Given the description of an element on the screen output the (x, y) to click on. 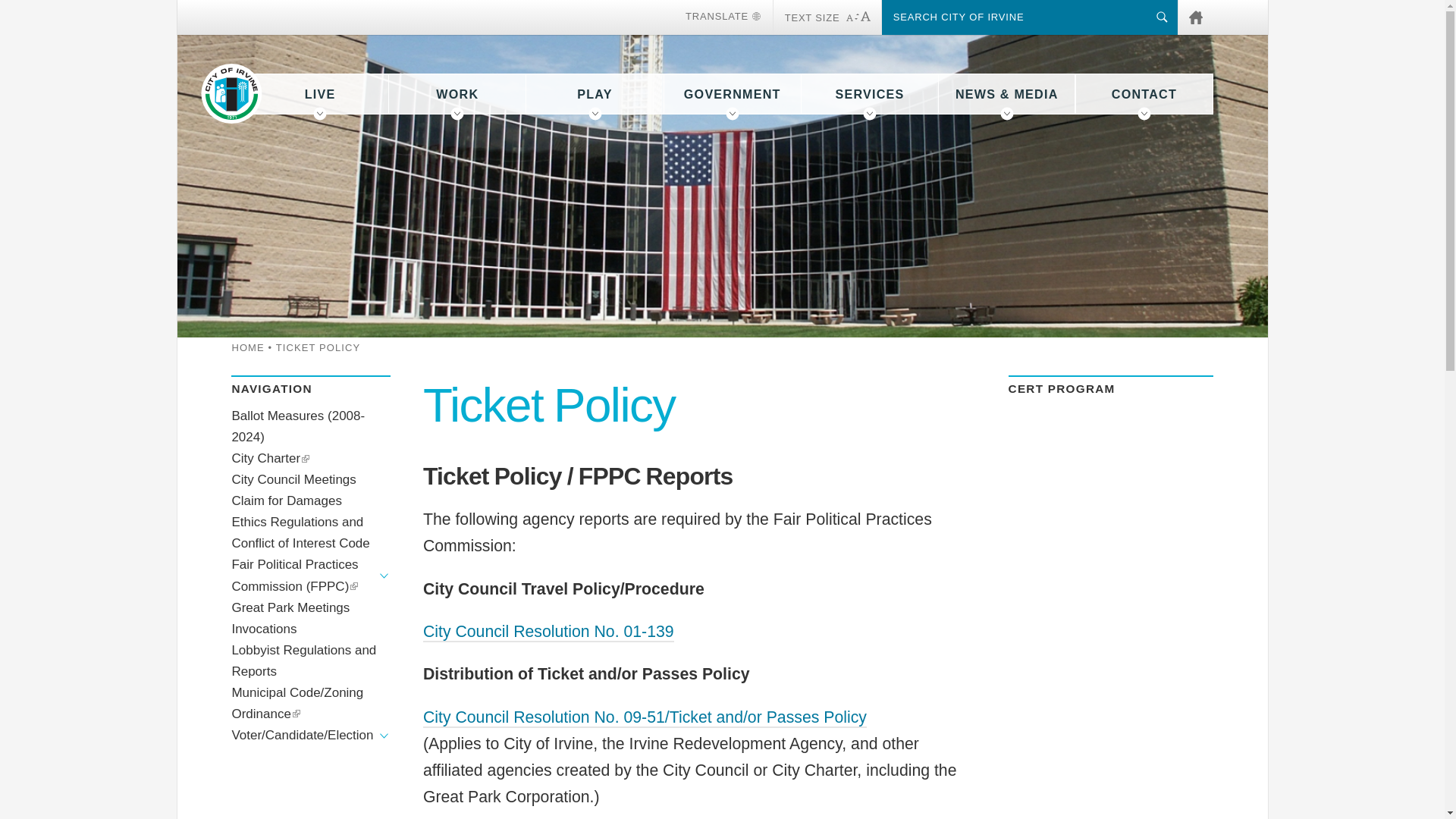
AFRIKAANS (310, 44)
GERMAN (639, 44)
CROATIAN (475, 44)
Go to Homepage (231, 93)
